Given the description of an element on the screen output the (x, y) to click on. 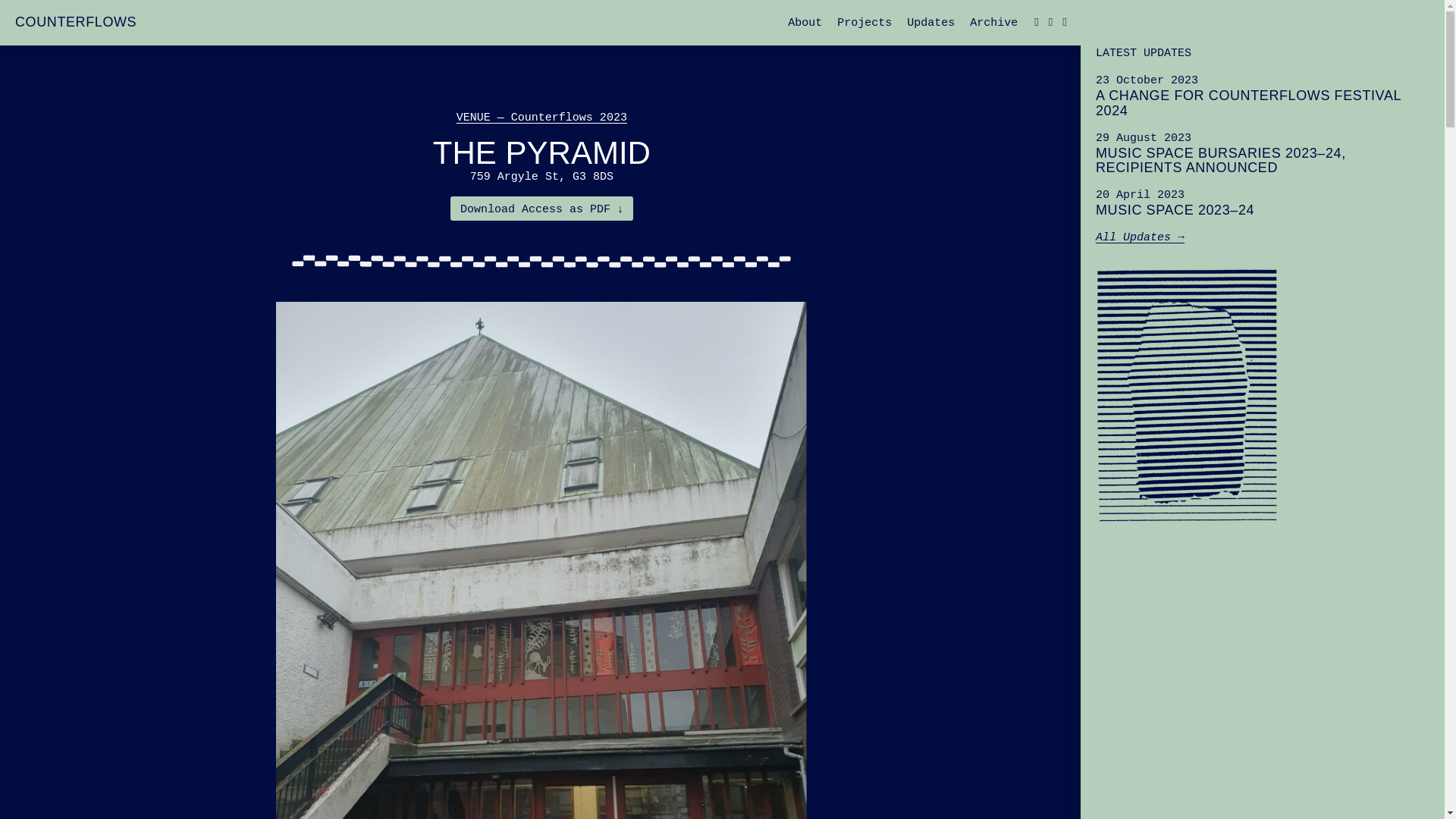
COUNTERFLOWS (75, 21)
About (804, 23)
Archive (1262, 95)
Updates (993, 23)
Projects (930, 23)
